Given the description of an element on the screen output the (x, y) to click on. 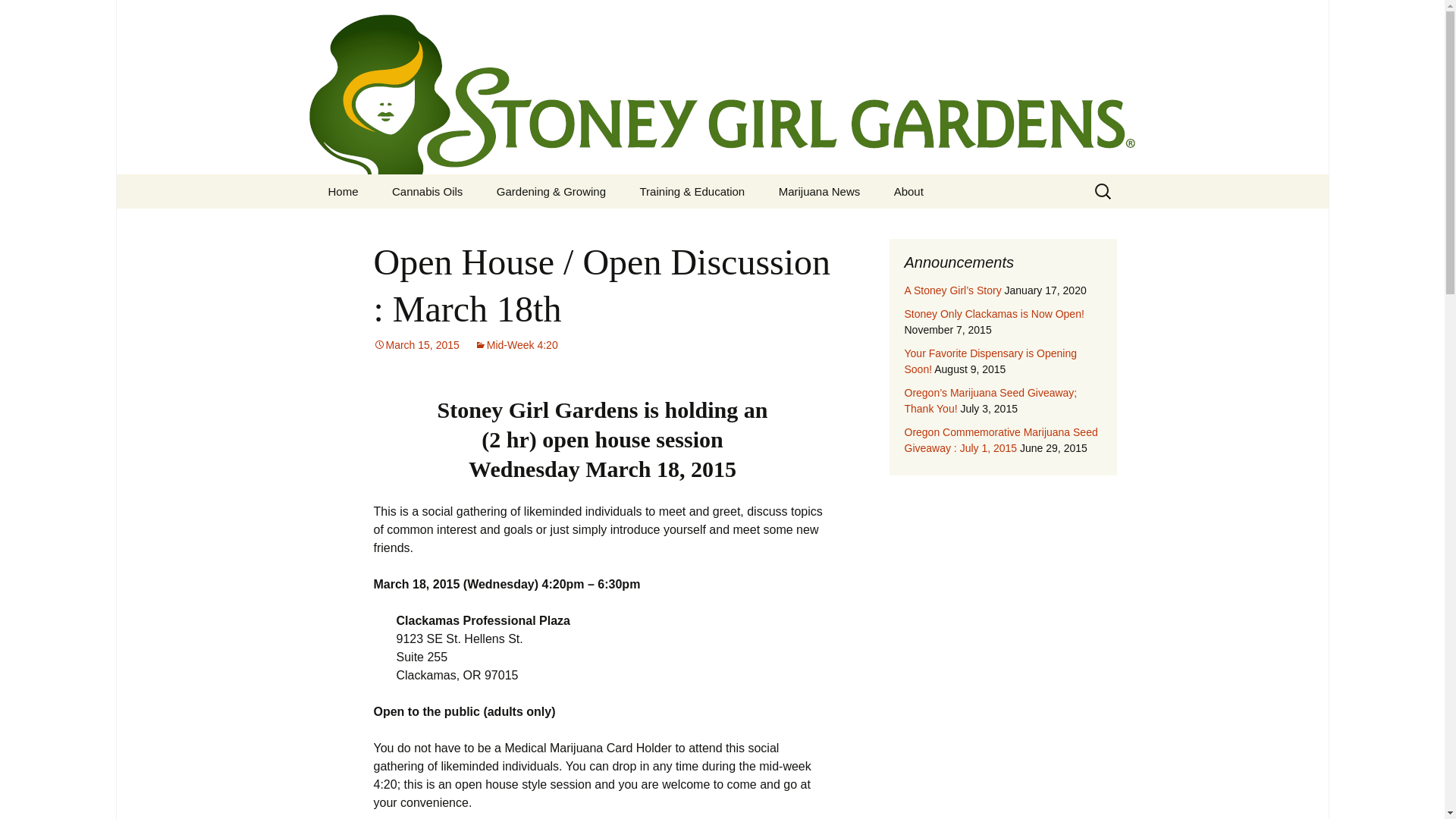
Oregon Commemorative Marijuana Seed Giveaway : July 1, 2015 (1000, 439)
Stoney Only Clackamas is Now Open! (993, 313)
Mid-Week 4:20 (515, 345)
Contact (954, 225)
Search (18, 15)
Exclusive Products (557, 225)
March 15, 2015 (415, 345)
About (909, 191)
Home (342, 191)
